Given the description of an element on the screen output the (x, y) to click on. 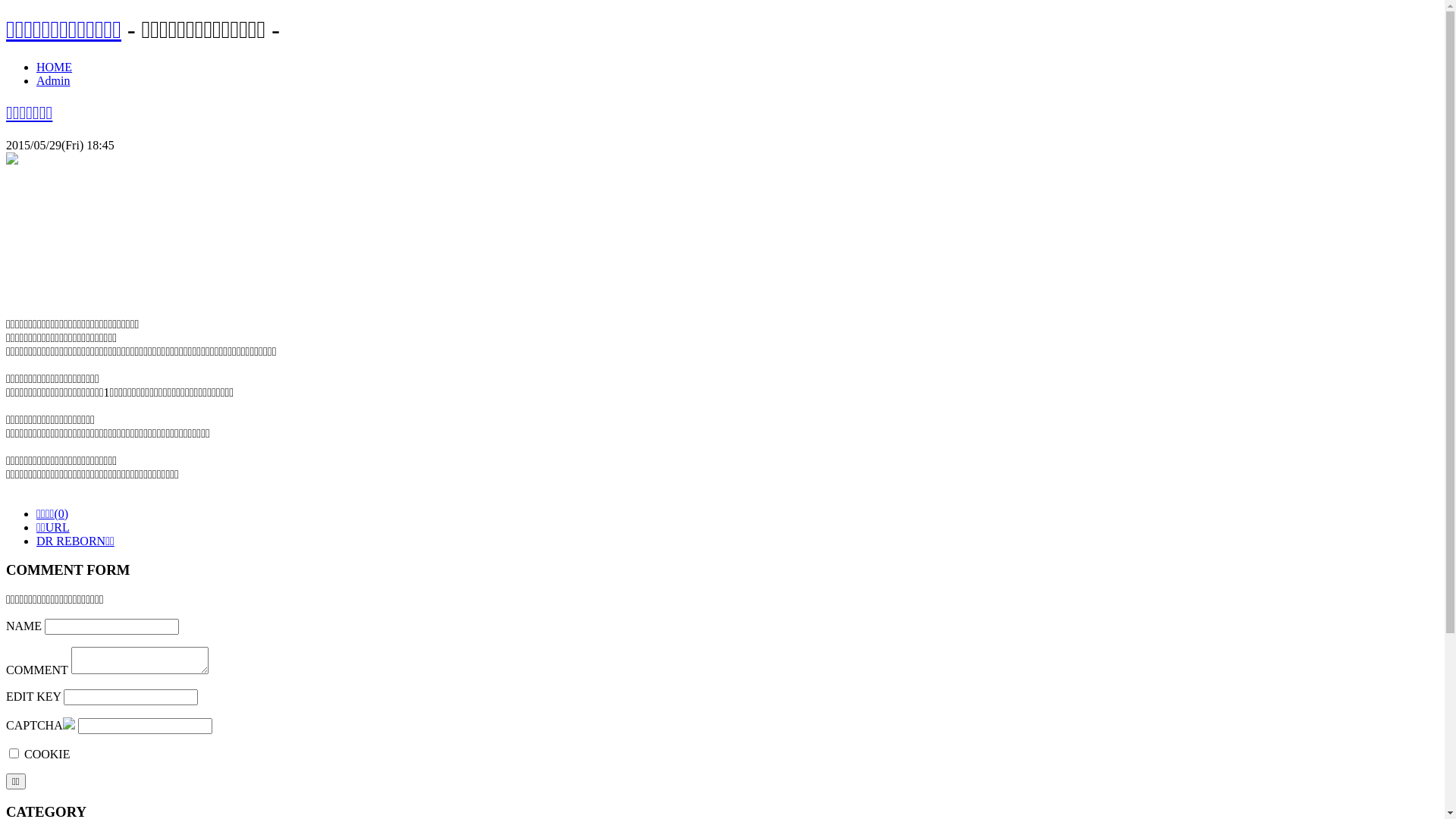
HOME Element type: text (54, 66)
Admin Element type: text (52, 80)
